Given the description of an element on the screen output the (x, y) to click on. 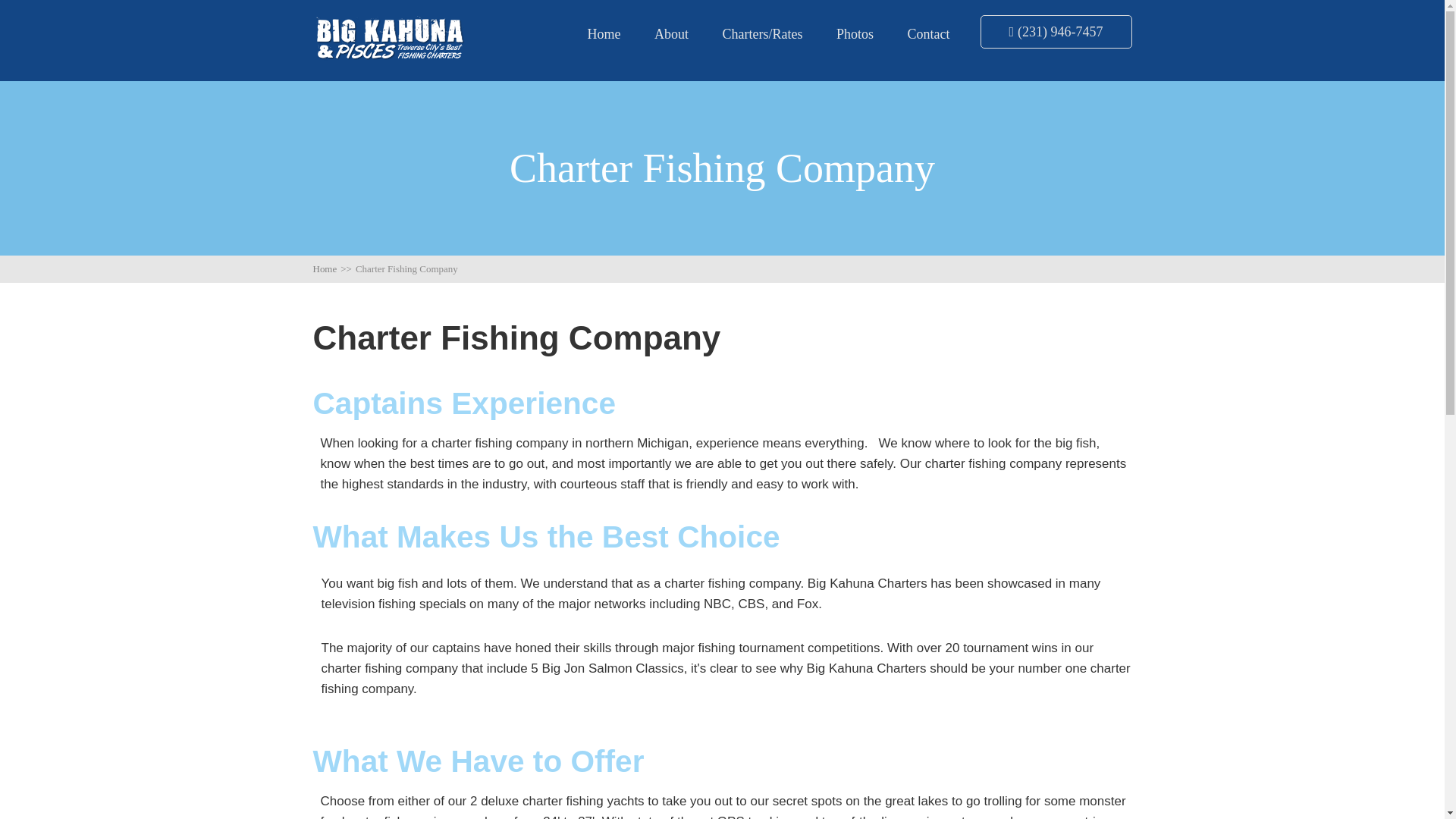
Charter Fishing Company (406, 268)
About (670, 34)
Photos (854, 34)
Home (603, 34)
Contact (928, 34)
